Given the description of an element on the screen output the (x, y) to click on. 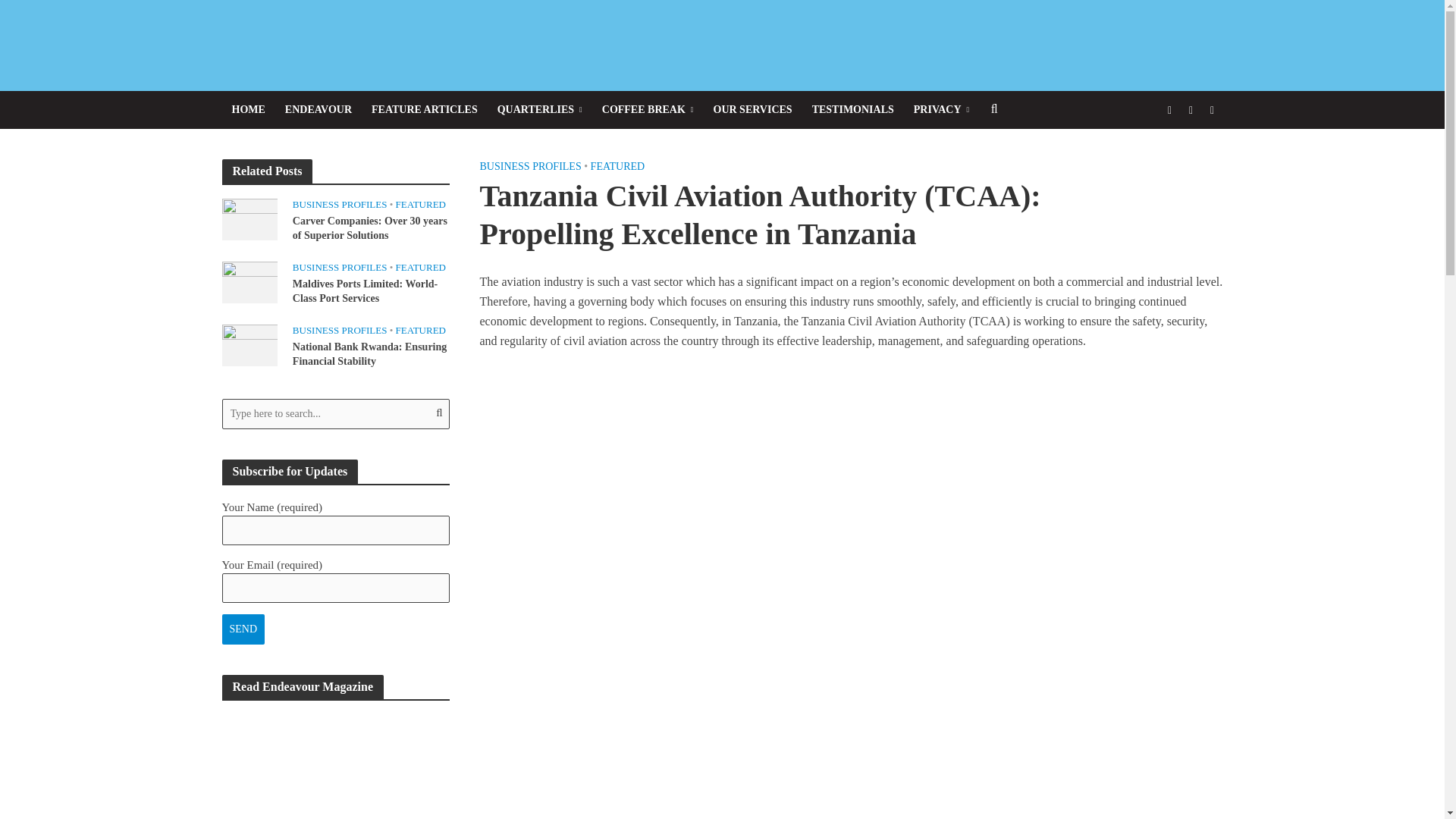
COFFEE BREAK (647, 109)
QUARTERLIES (539, 109)
Send (242, 629)
ENDEAVOUR (318, 109)
National Bank Rwanda: Ensuring Financial Stability (248, 344)
HOME (248, 109)
PRIVACY (941, 109)
FEATURE ARTICLES (424, 109)
TESTIMONIALS (853, 109)
Maldives Ports Limited: World-Class Port Services (248, 281)
